Given the description of an element on the screen output the (x, y) to click on. 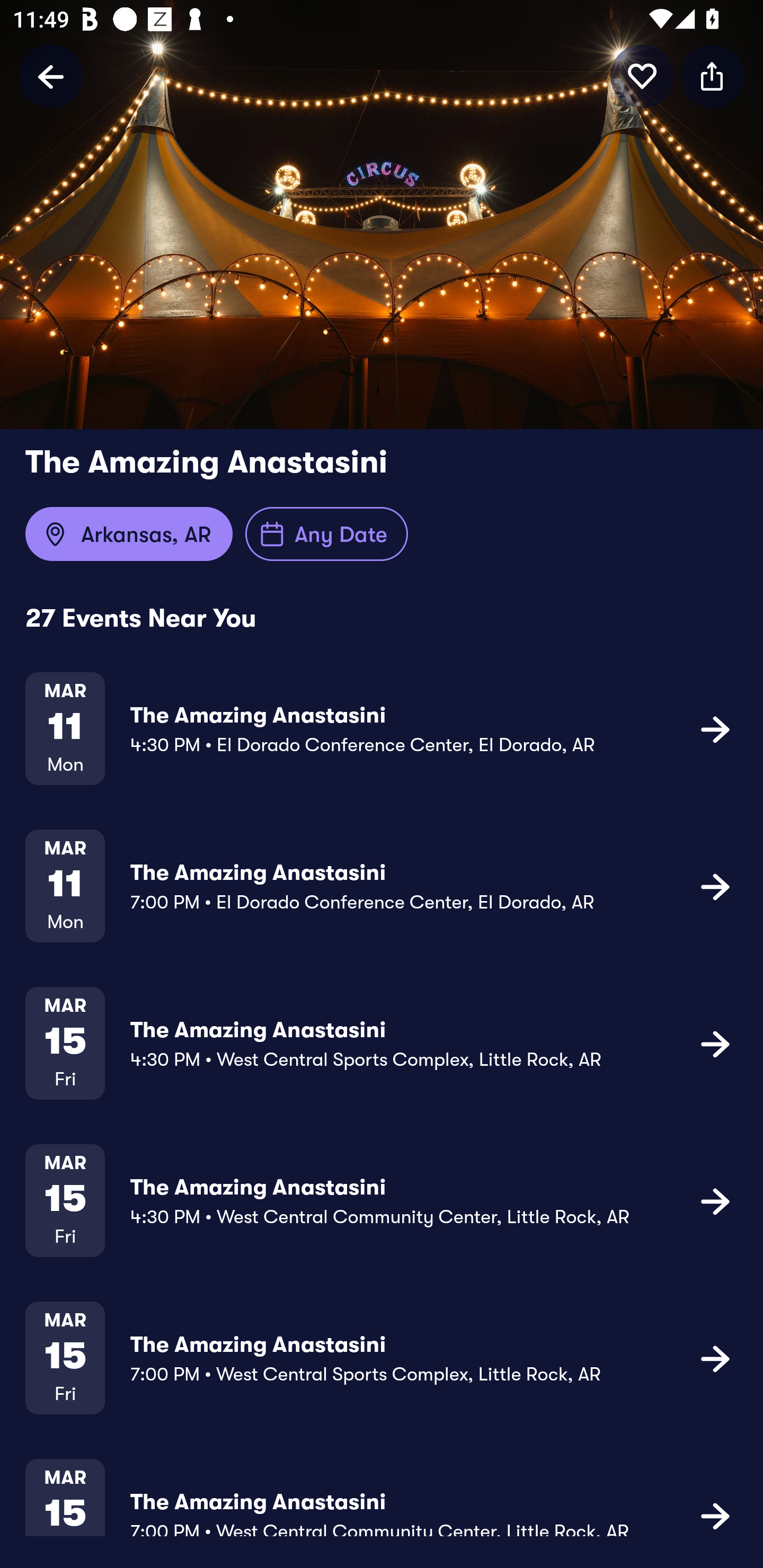
Back (50, 75)
icon button (641, 75)
icon button (711, 75)
Arkansas, AR (128, 533)
Any Date (326, 533)
icon button (714, 729)
icon button (714, 885)
icon button (714, 1043)
icon button (714, 1201)
icon button (714, 1357)
icon button (714, 1514)
